Given the description of an element on the screen output the (x, y) to click on. 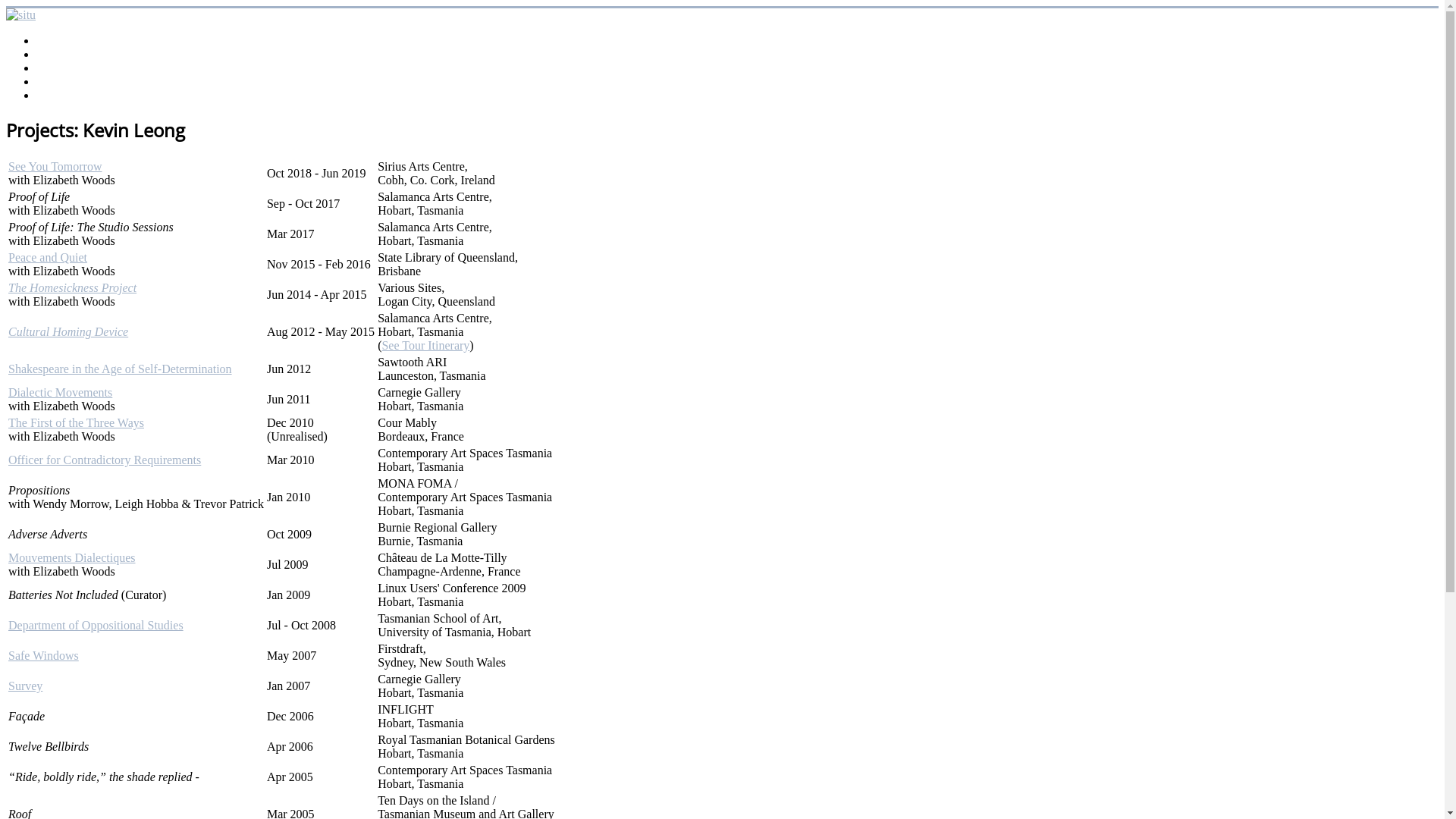
Peace and Quiet Element type: text (47, 257)
The Homesickness Project Element type: text (72, 287)
Mouvements Dialectiques Element type: text (71, 557)
Cultural Homing Device Element type: text (68, 331)
Department of Oppositional Studies Element type: text (95, 624)
See Tour Itinerary Element type: text (425, 344)
See You Tomorrow Element type: text (54, 166)
Safe Windows Element type: text (43, 655)
Officer for Contradictory Requirements Element type: text (104, 459)
Survey Element type: text (25, 685)
Shakespeare in the Age of Self-Determination Element type: text (120, 368)
The First of the Three Ways Element type: text (76, 422)
Dialectic Movements Element type: text (60, 391)
